Given the description of an element on the screen output the (x, y) to click on. 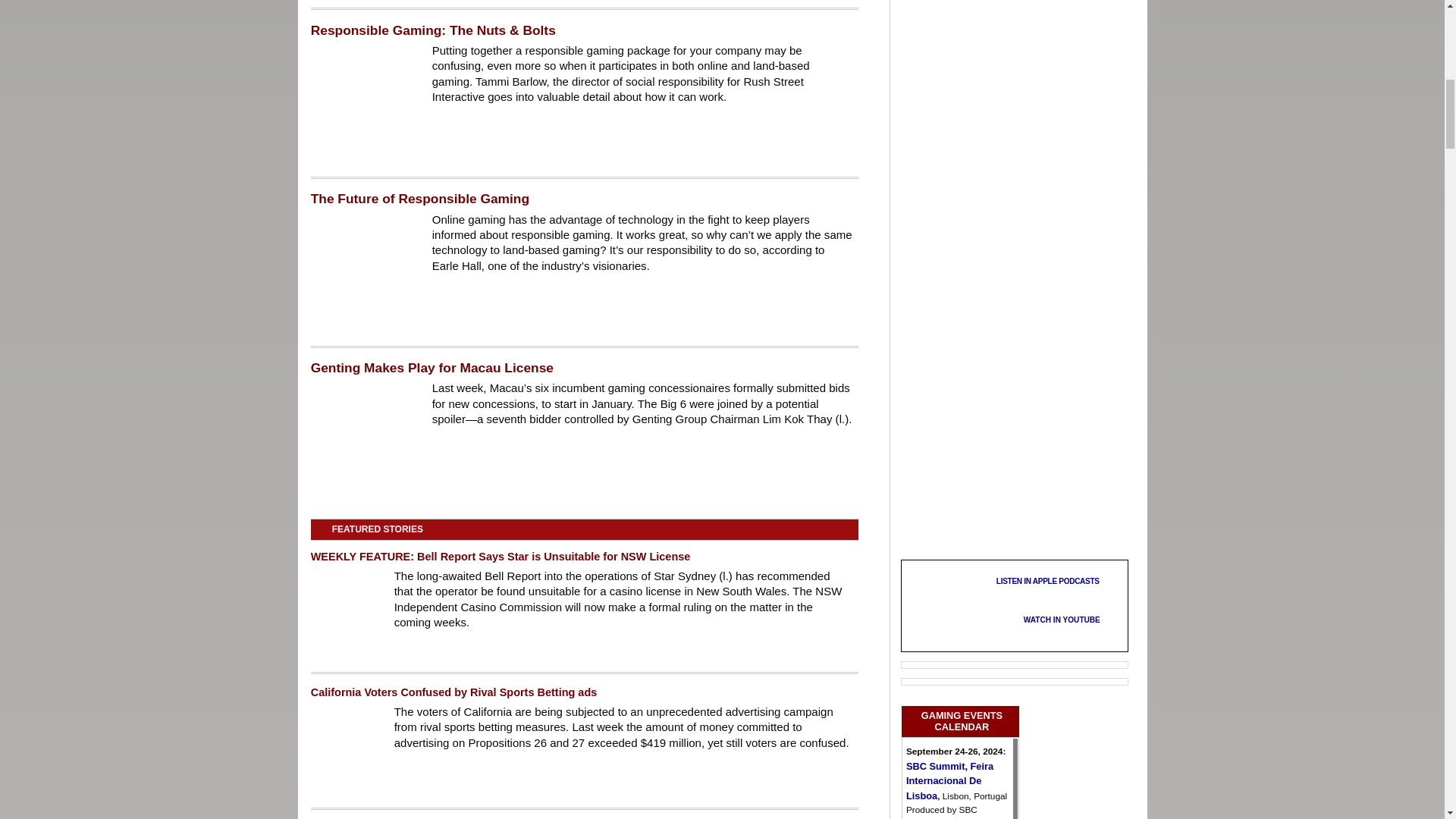
Genting Makes Play for Macau License (363, 439)
The Future of Responsible Gaming (363, 270)
Genting Makes Play for Macau License (432, 367)
The Future of Responsible Gaming (420, 198)
California Voters Confused by Rival Sports Betting ads (453, 692)
Genting Makes Play for Macau License (432, 367)
The Future of Responsible Gaming (420, 198)
